Given the description of an element on the screen output the (x, y) to click on. 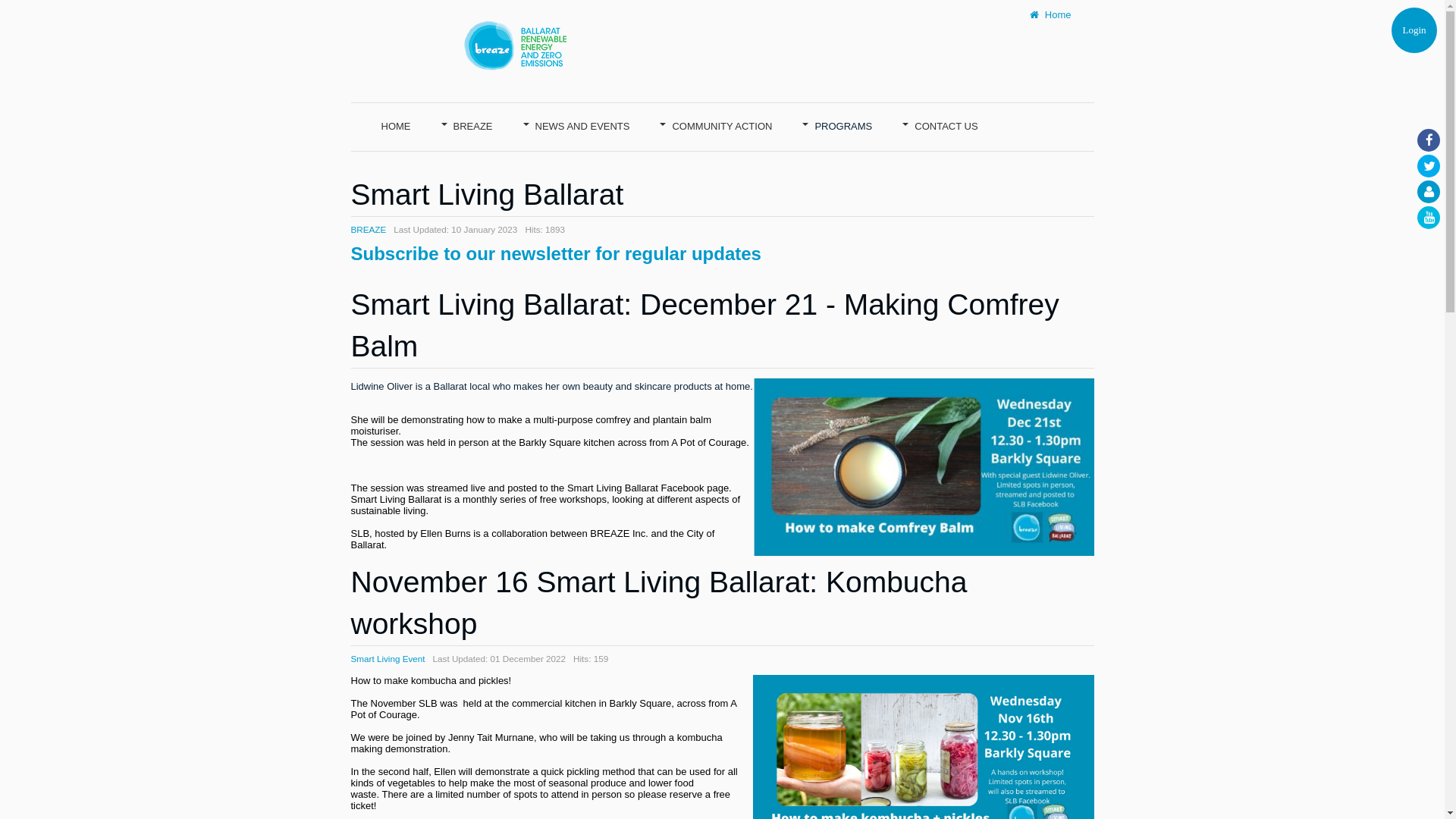
BREAZE Element type: text (367, 229)
Home Element type: text (1050, 14)
Subscribe to our newsletter for regular updates Element type: text (555, 253)
HOME Element type: text (395, 124)
Login Element type: text (1414, 30)
Smart Living Event Element type: text (387, 658)
